Given the description of an element on the screen output the (x, y) to click on. 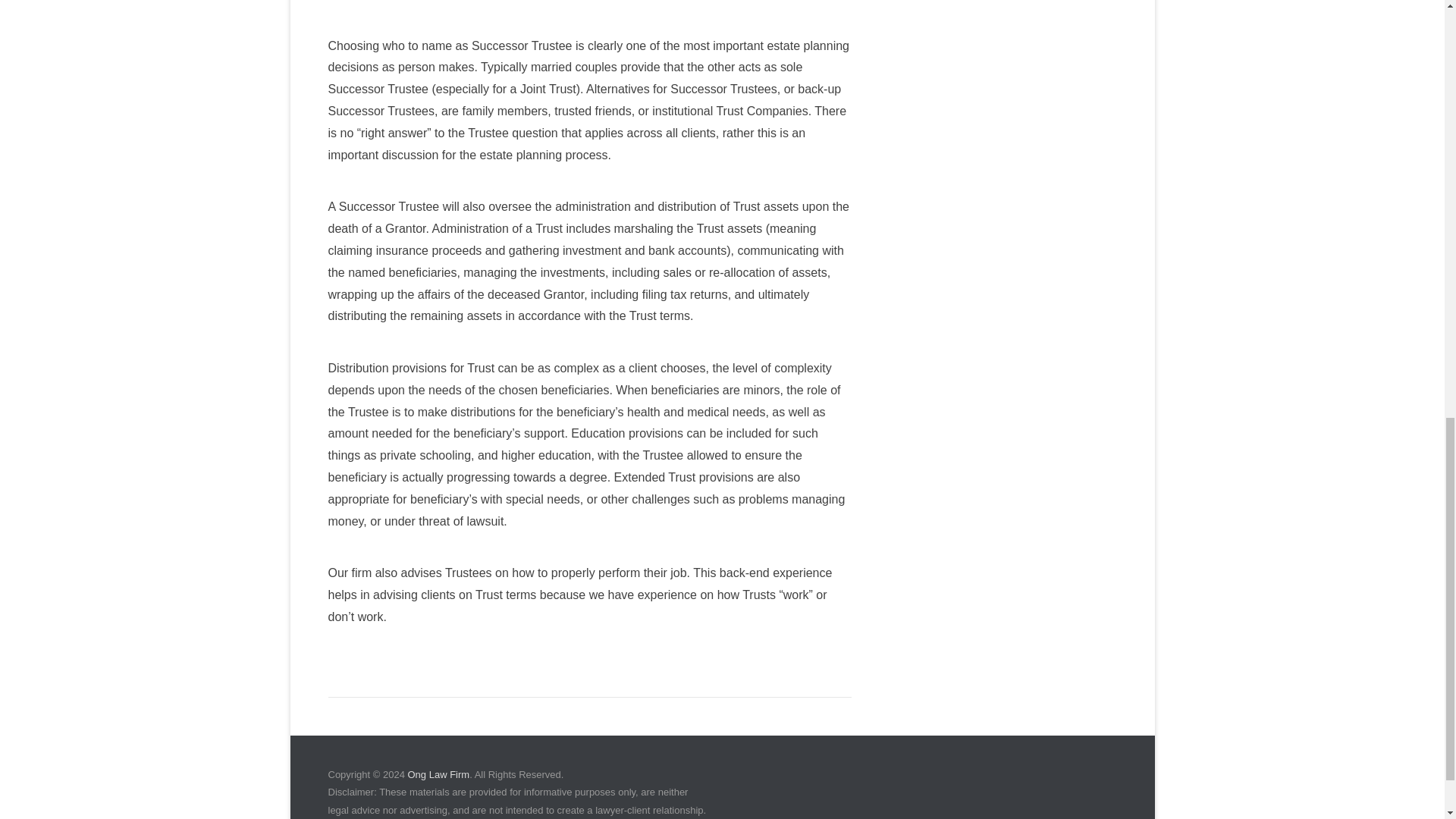
Ong Law Firm (437, 774)
Skip to Footer Content (349, 745)
